Given the description of an element on the screen output the (x, y) to click on. 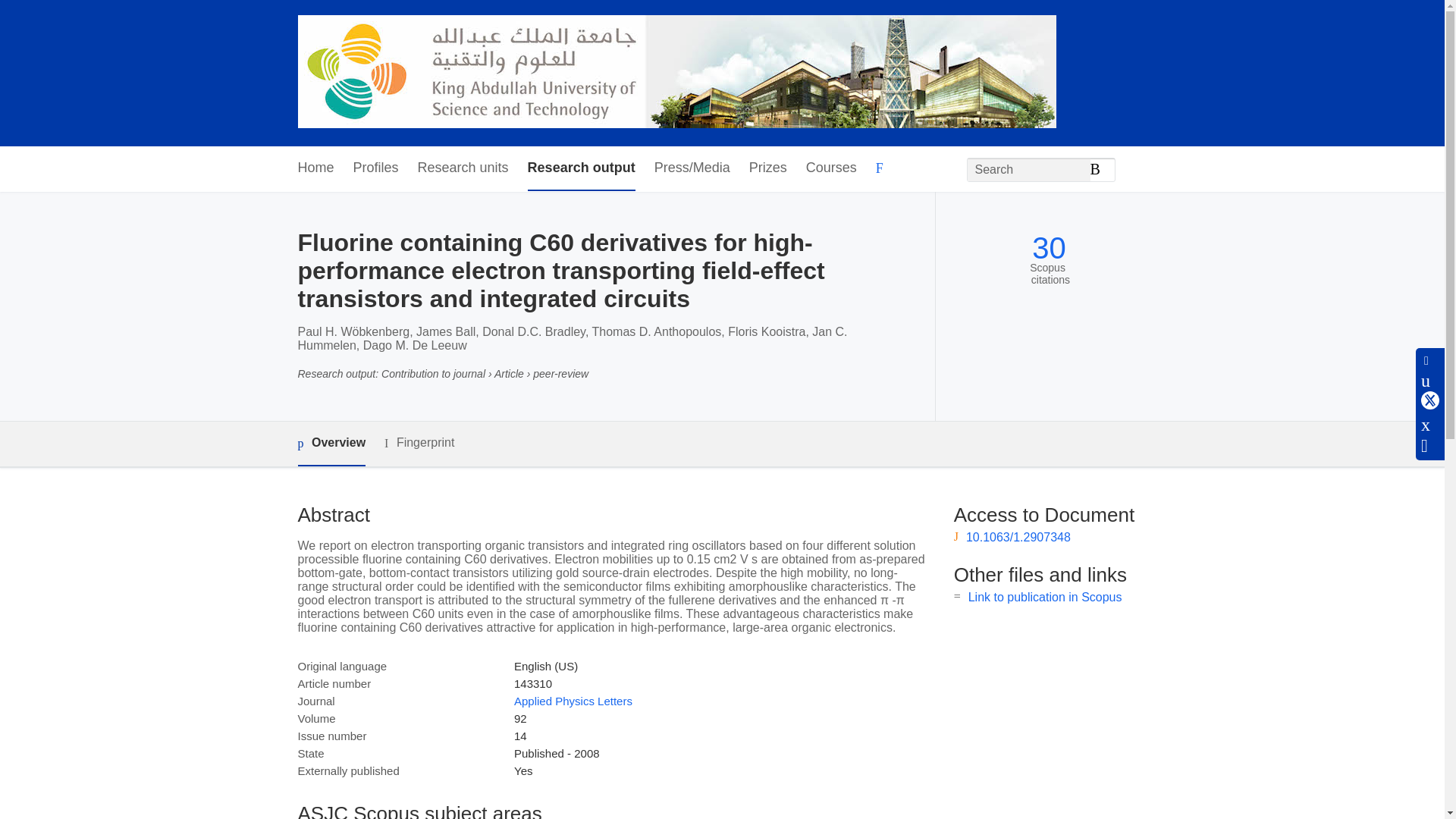
KAUST FACULTY PORTAL Home (676, 73)
Research units (462, 168)
30 (1048, 248)
Overview (331, 443)
Applied Physics Letters (572, 700)
Courses (831, 168)
Fingerprint (419, 443)
Link to publication in Scopus (1045, 596)
Research output (580, 168)
